Given the description of an element on the screen output the (x, y) to click on. 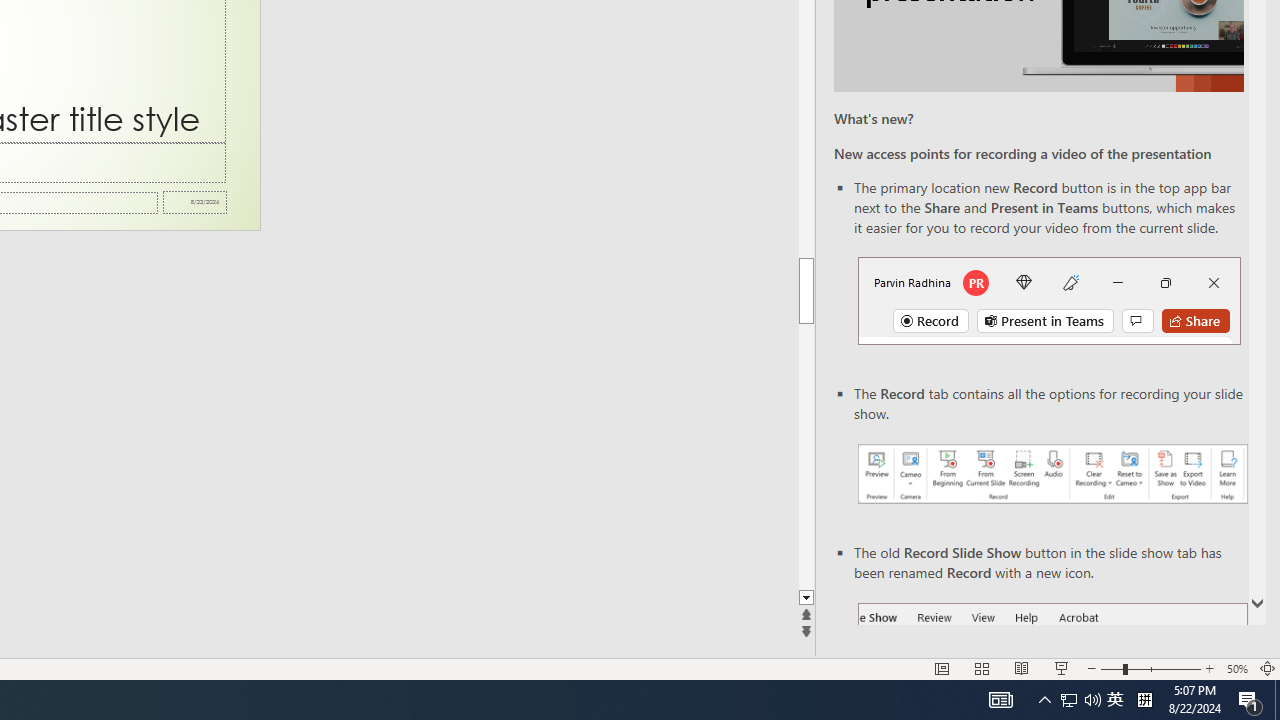
Zoom 50% (1236, 668)
